Given the description of an element on the screen output the (x, y) to click on. 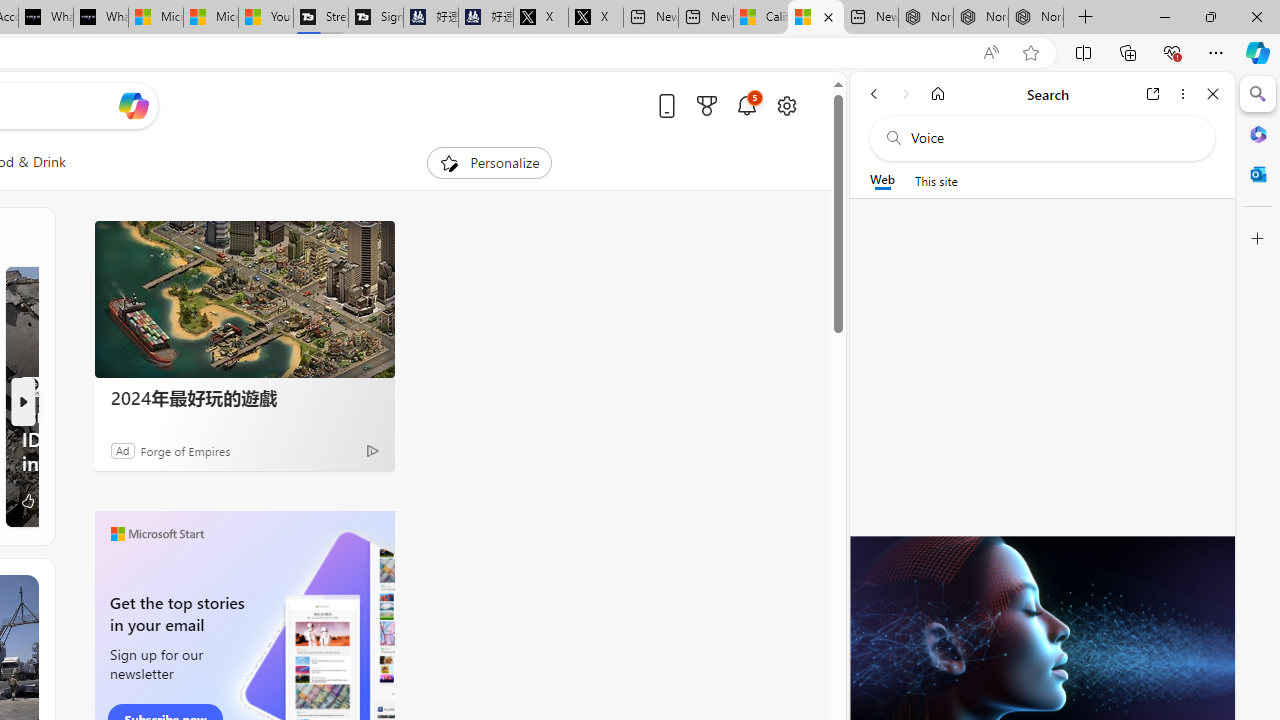
Forward (906, 93)
Ad (123, 450)
Outlook (1258, 174)
Microsoft rewards (707, 105)
This site scope (936, 180)
Web scope (882, 180)
Nordace Siena Pro 15 Backpack (980, 17)
